Given the description of an element on the screen output the (x, y) to click on. 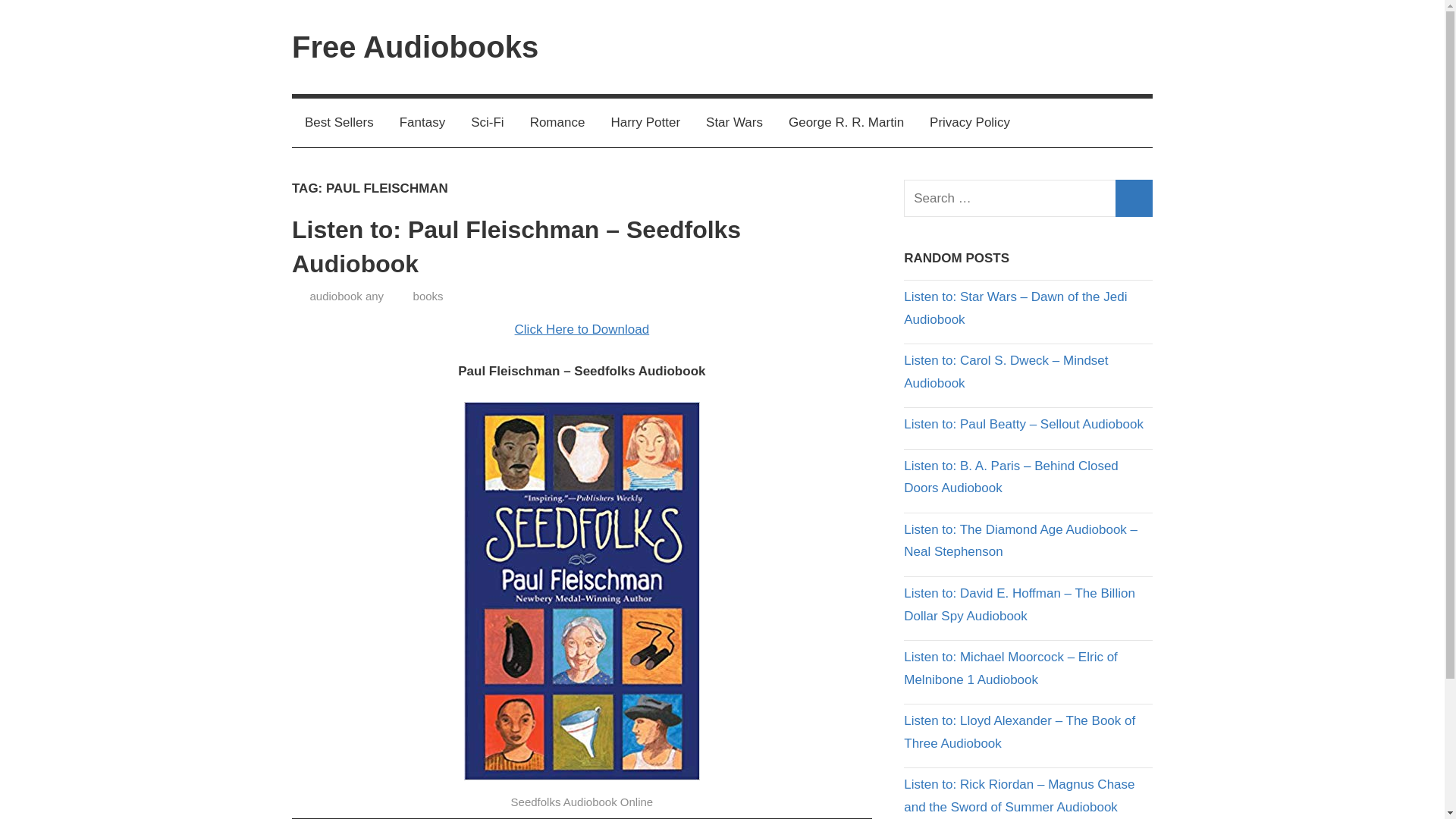
Harry Potter (644, 122)
Privacy Policy (970, 122)
Search (1134, 198)
Search for: (1028, 198)
Sci-Fi (487, 122)
View all posts by audiobook any (346, 295)
Click Here to Download (582, 329)
audiobook any (346, 295)
George R. R. Martin (846, 122)
books (428, 295)
Free Audiobooks (415, 46)
Fantasy (422, 122)
Star Wars (734, 122)
Best Sellers (339, 122)
Romance (557, 122)
